Given the description of an element on the screen output the (x, y) to click on. 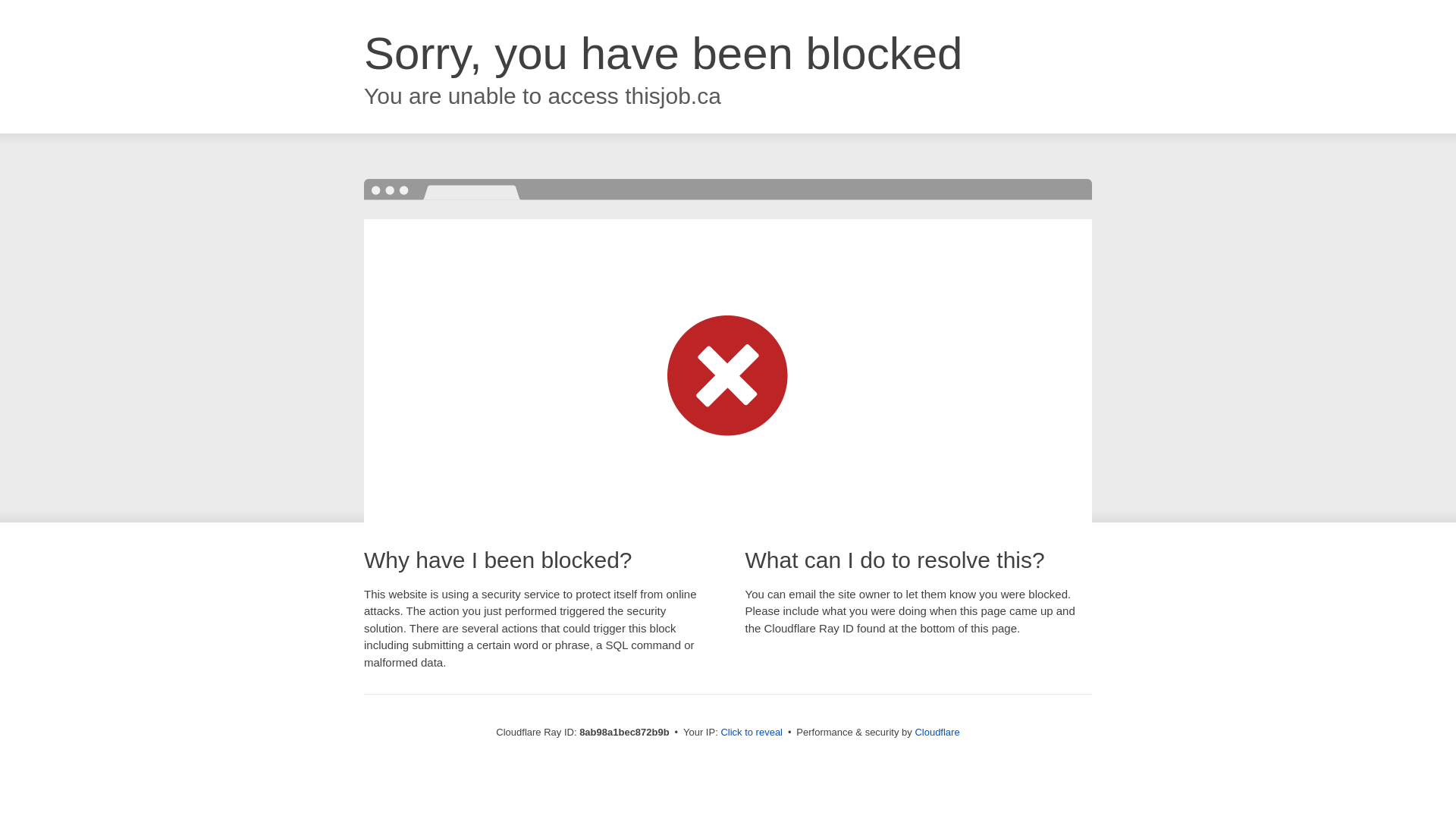
Click to reveal (751, 732)
Cloudflare (936, 731)
